Given the description of an element on the screen output the (x, y) to click on. 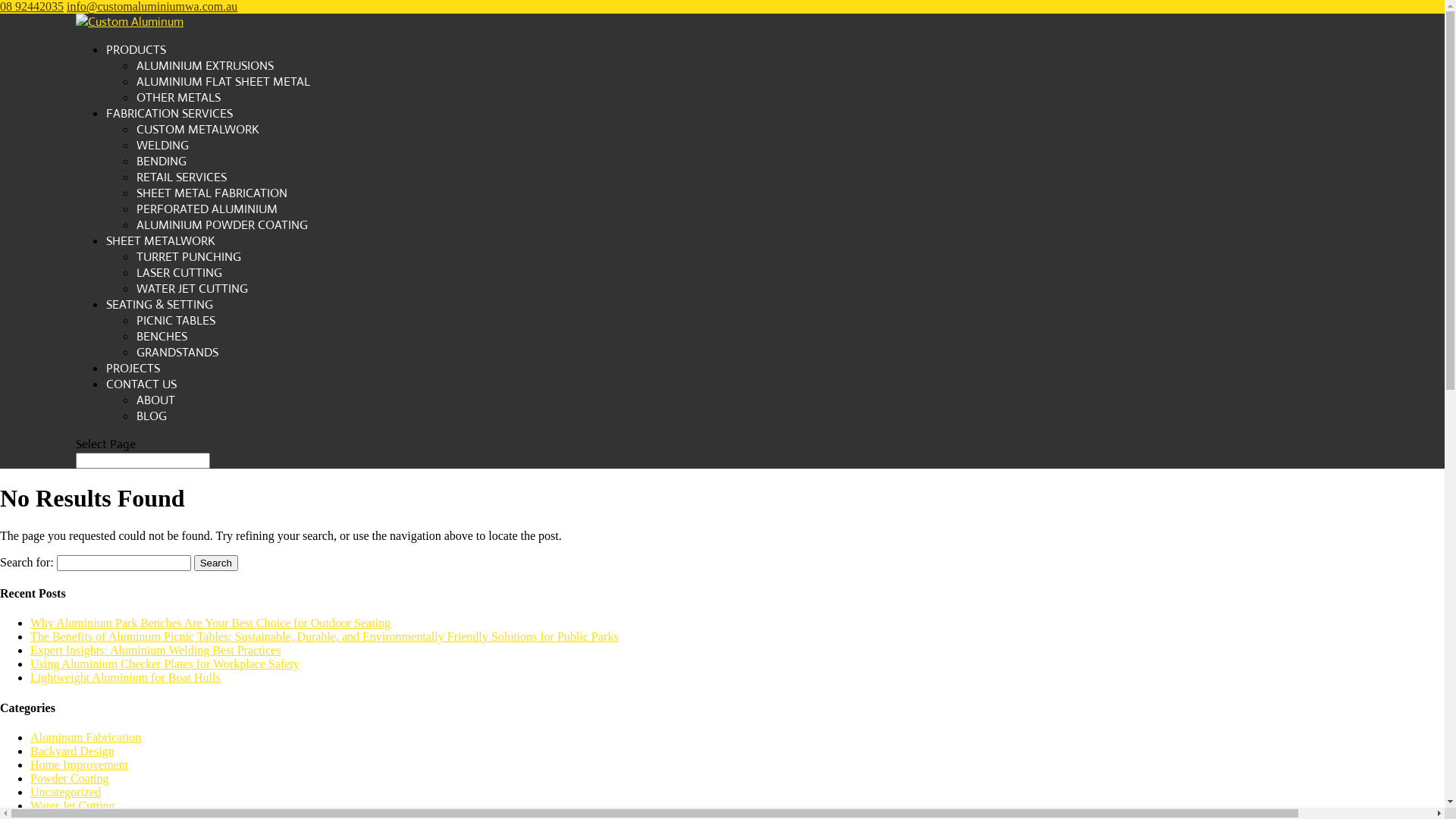
ALUMINIUM POWDER COATING Element type: text (221, 224)
OTHER METALS Element type: text (178, 97)
Search Element type: text (216, 563)
FABRICATION SERVICES Element type: text (169, 113)
Home Improvement Element type: text (79, 764)
PICNIC TABLES Element type: text (175, 320)
CONTACT US Element type: text (141, 384)
BLOG Element type: text (151, 415)
ALUMINIUM EXTRUSIONS Element type: text (204, 65)
TURRET PUNCHING Element type: text (188, 256)
Expert Insights: Aluminium Welding Best Practices Element type: text (155, 649)
SHEET METAL FABRICATION Element type: text (211, 192)
PRODUCTS Element type: text (136, 49)
CUSTOM METALWORK Element type: text (197, 129)
Powder Coating Element type: text (69, 777)
ALUMINIUM FLAT SHEET METAL Element type: text (223, 81)
WATER JET CUTTING Element type: text (191, 288)
LASER CUTTING Element type: text (179, 272)
PERFORATED ALUMINIUM Element type: text (206, 208)
Uncategorized Element type: text (65, 791)
Water Jet Cutting Element type: text (72, 805)
Aluminum Fabrication Element type: text (85, 737)
Search for: Element type: hover (142, 460)
WELDING Element type: text (162, 145)
Backyard Design Element type: text (72, 750)
RETAIL SERVICES Element type: text (181, 177)
SHEET METALWORK Element type: text (160, 240)
08 92442035 Element type: text (31, 6)
BENDING Element type: text (161, 161)
PROJECTS Element type: text (133, 368)
ABOUT Element type: text (155, 399)
GRANDSTANDS Element type: text (177, 352)
BENCHES Element type: text (161, 336)
SEATING & SETTING Element type: text (159, 304)
Lightweight Aluminium for Boat Hulls Element type: text (125, 677)
info@customaluminiumwa.com.au Element type: text (151, 6)
Using Aluminium Checker Plates for Workplace Safety Element type: text (164, 663)
